Given the description of an element on the screen output the (x, y) to click on. 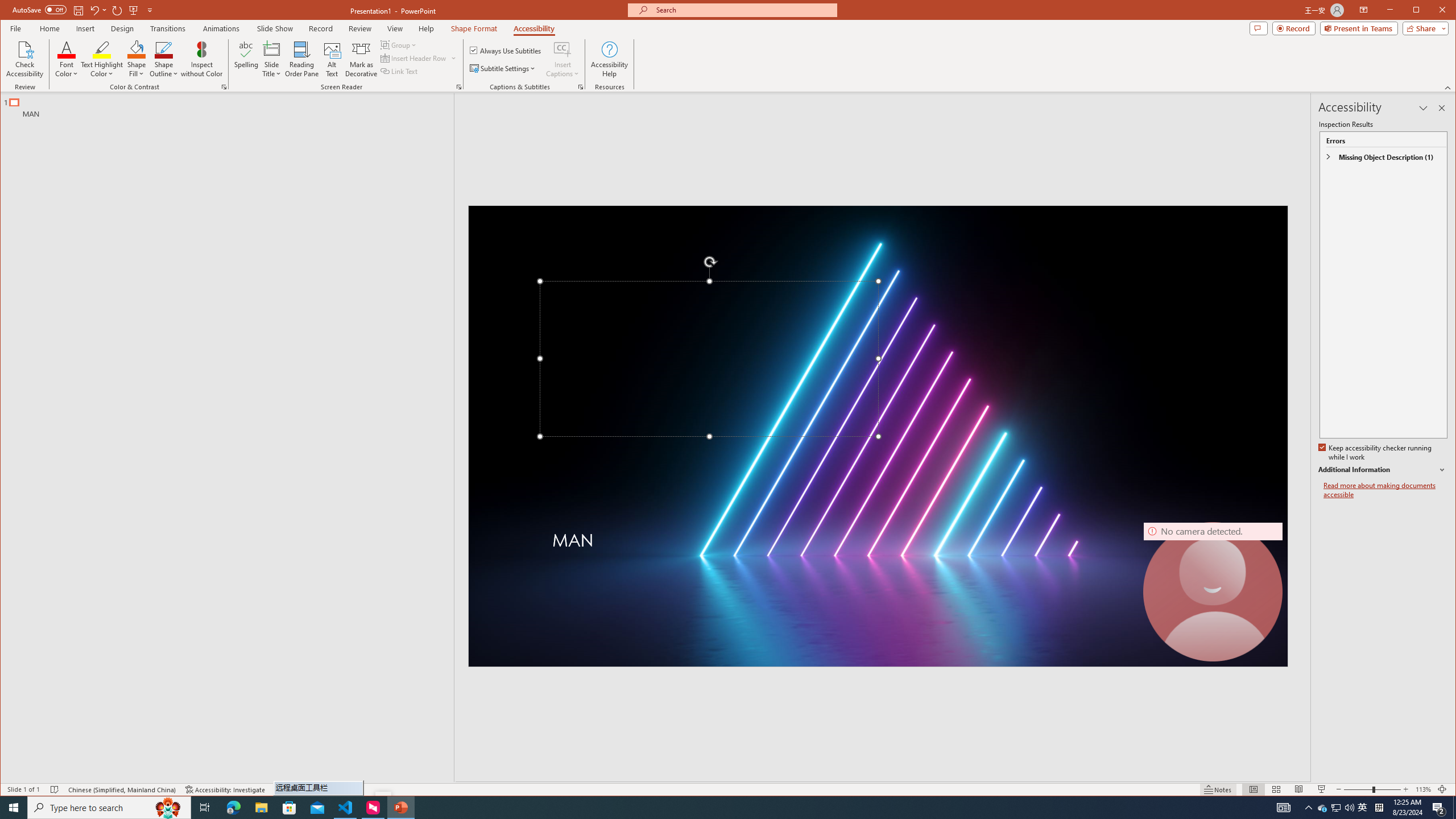
Screen Reader (458, 86)
Group (399, 44)
Insert Captions (562, 59)
Accessibility Help (608, 59)
